Given the description of an element on the screen output the (x, y) to click on. 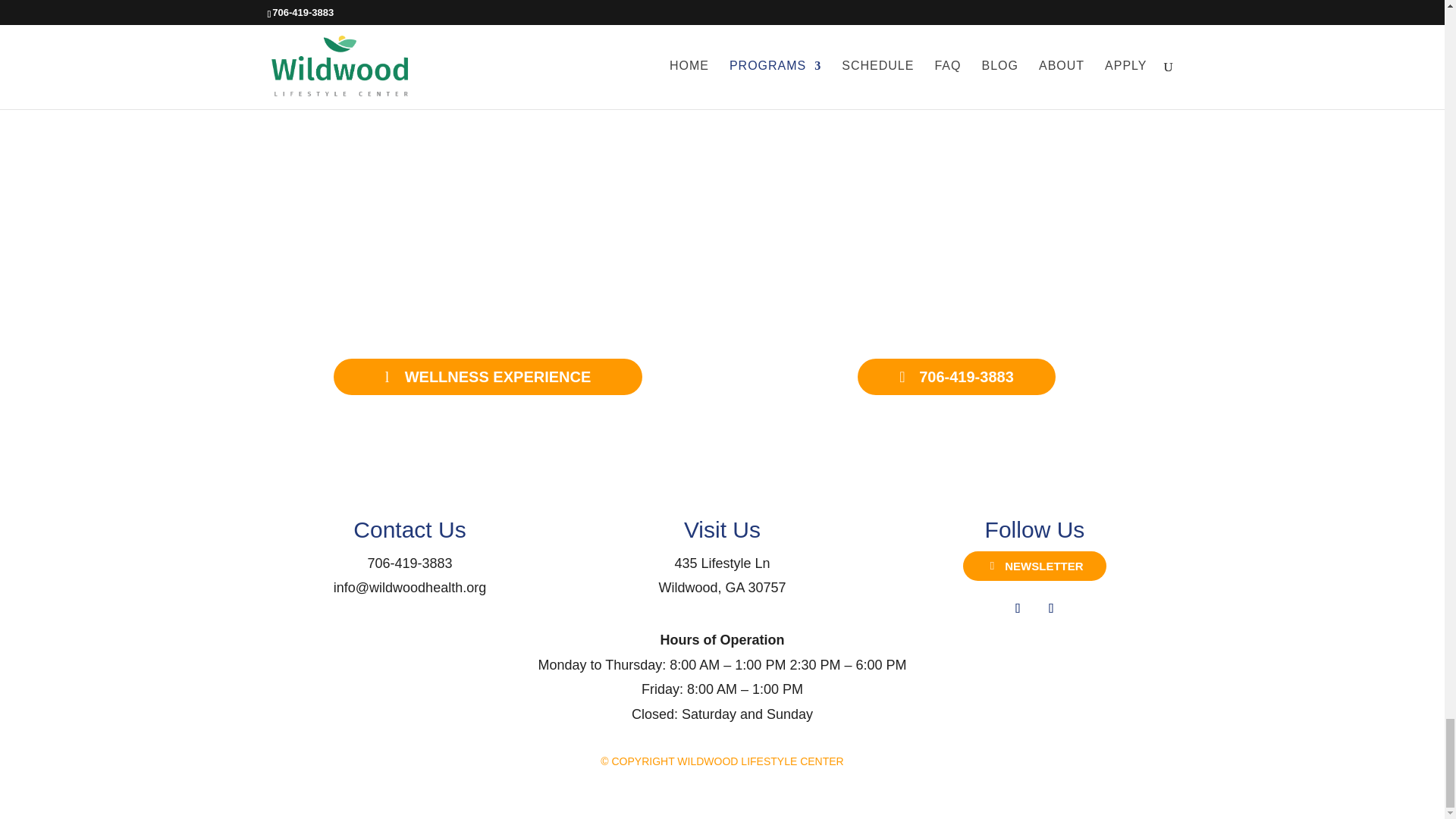
Click to get directions (722, 575)
NEWSLETTER (1033, 566)
706-419-3883 (408, 563)
Follow on Facebook (722, 575)
WELLNESS EXPERIENCE (1017, 607)
Click to Call (487, 376)
706-419-3883 (408, 563)
Click to email us (957, 376)
